Given the description of an element on the screen output the (x, y) to click on. 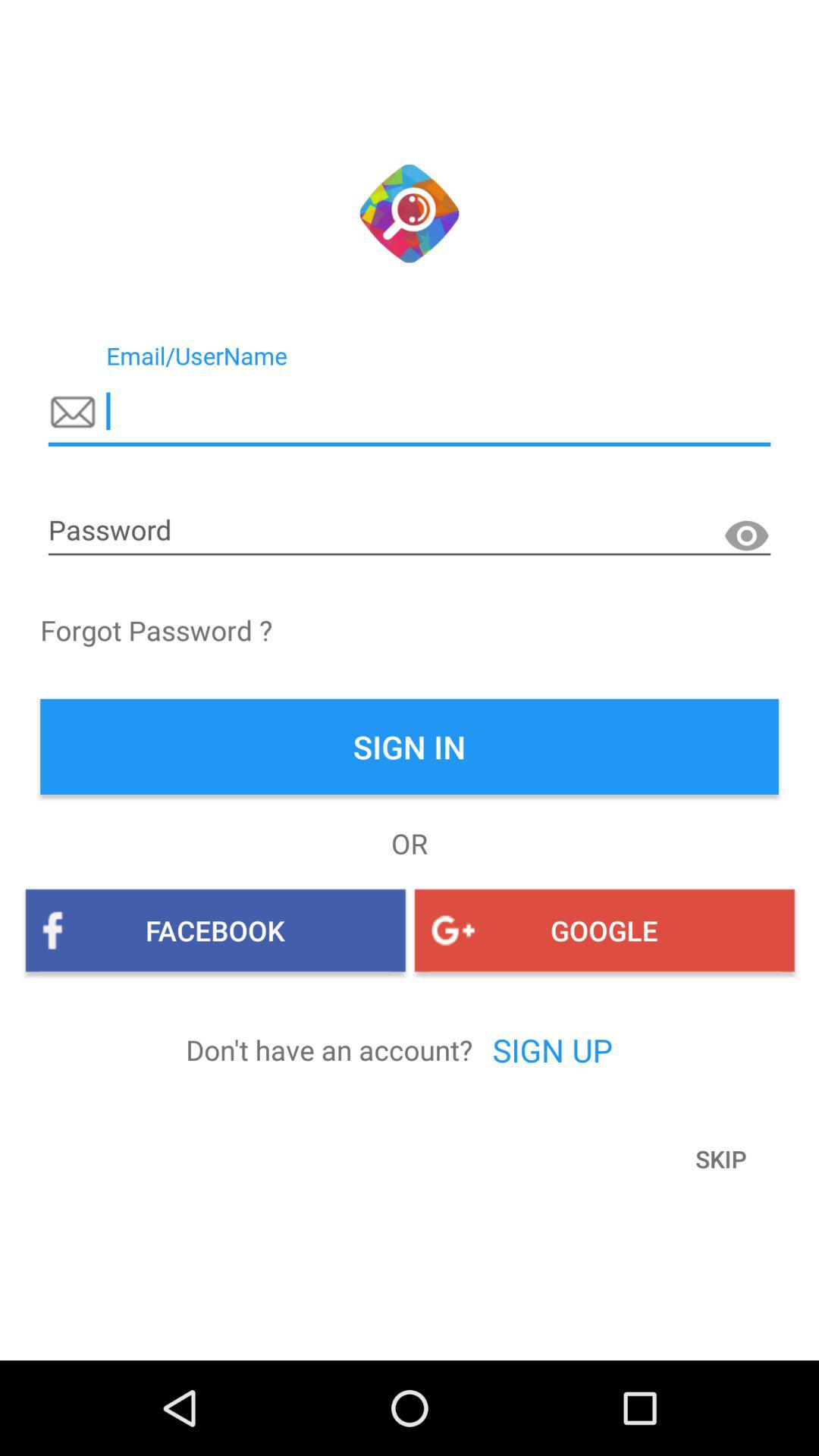
watch (746, 536)
